Given the description of an element on the screen output the (x, y) to click on. 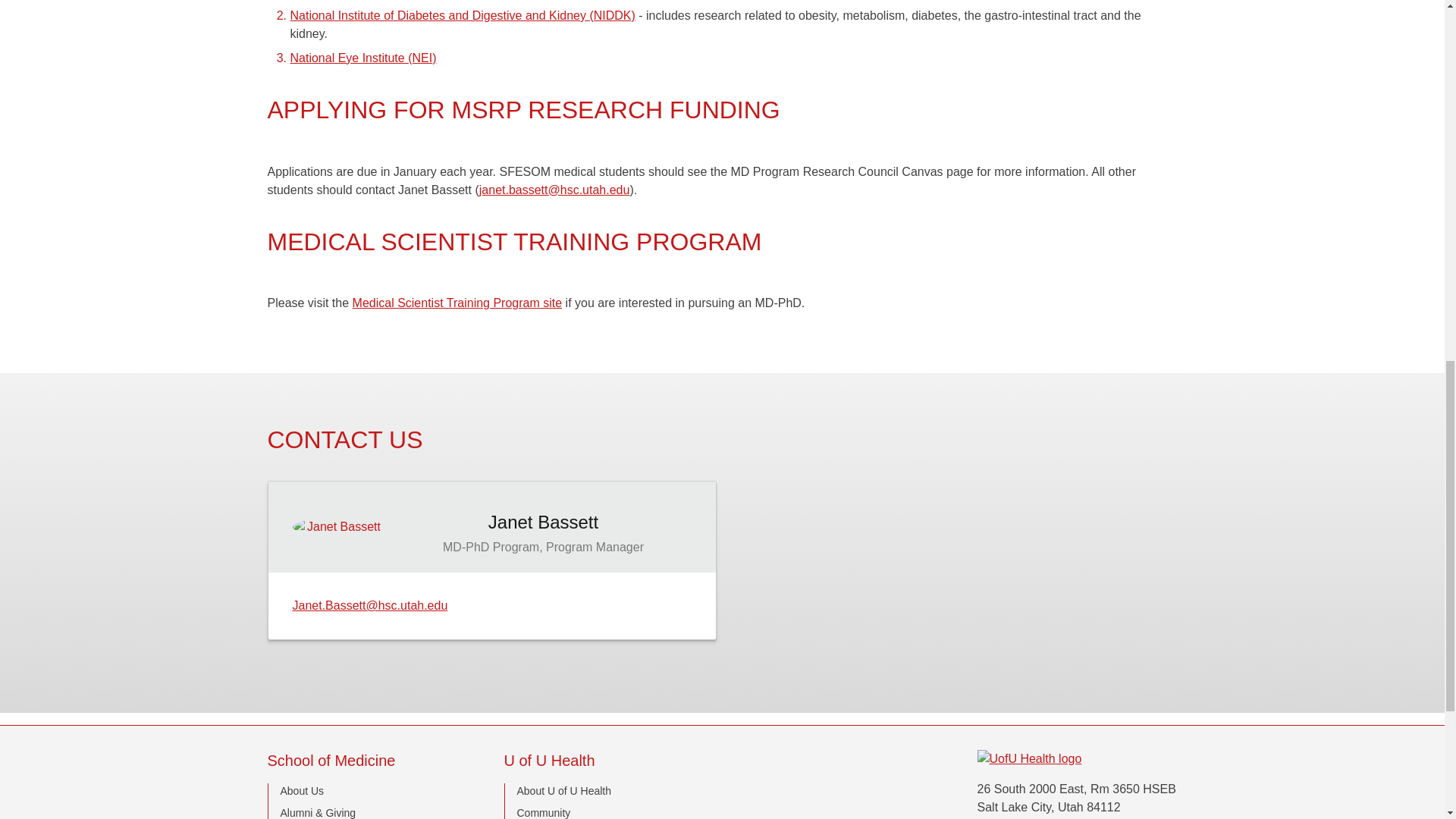
University of Utah Healthcare (1076, 759)
About U of U Health (563, 790)
Medical Scientist Training Program site (457, 302)
Community (543, 812)
About Us (302, 790)
Send email to Janet Bassett (370, 604)
Janet Bassett (542, 521)
Medical Scientist Training Program  (457, 302)
Janet Bassett (542, 521)
Janet Bassett (338, 525)
